Given the description of an element on the screen output the (x, y) to click on. 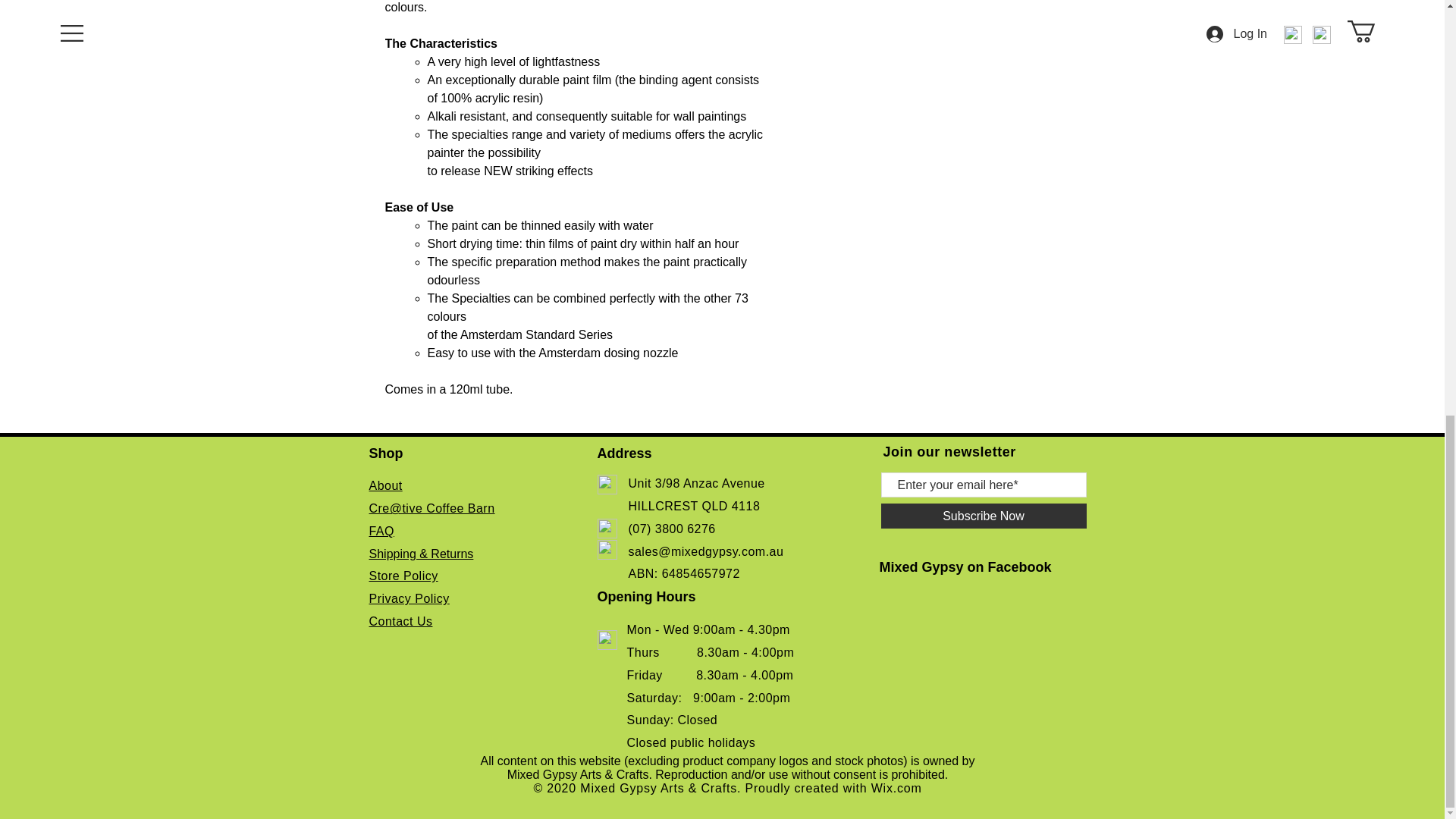
FAQ (380, 530)
About (384, 485)
Store Policy (403, 575)
Privacy Policy (408, 598)
Subscribe Now (983, 515)
Contact Us (400, 621)
Wix.com (895, 788)
